Given the description of an element on the screen output the (x, y) to click on. 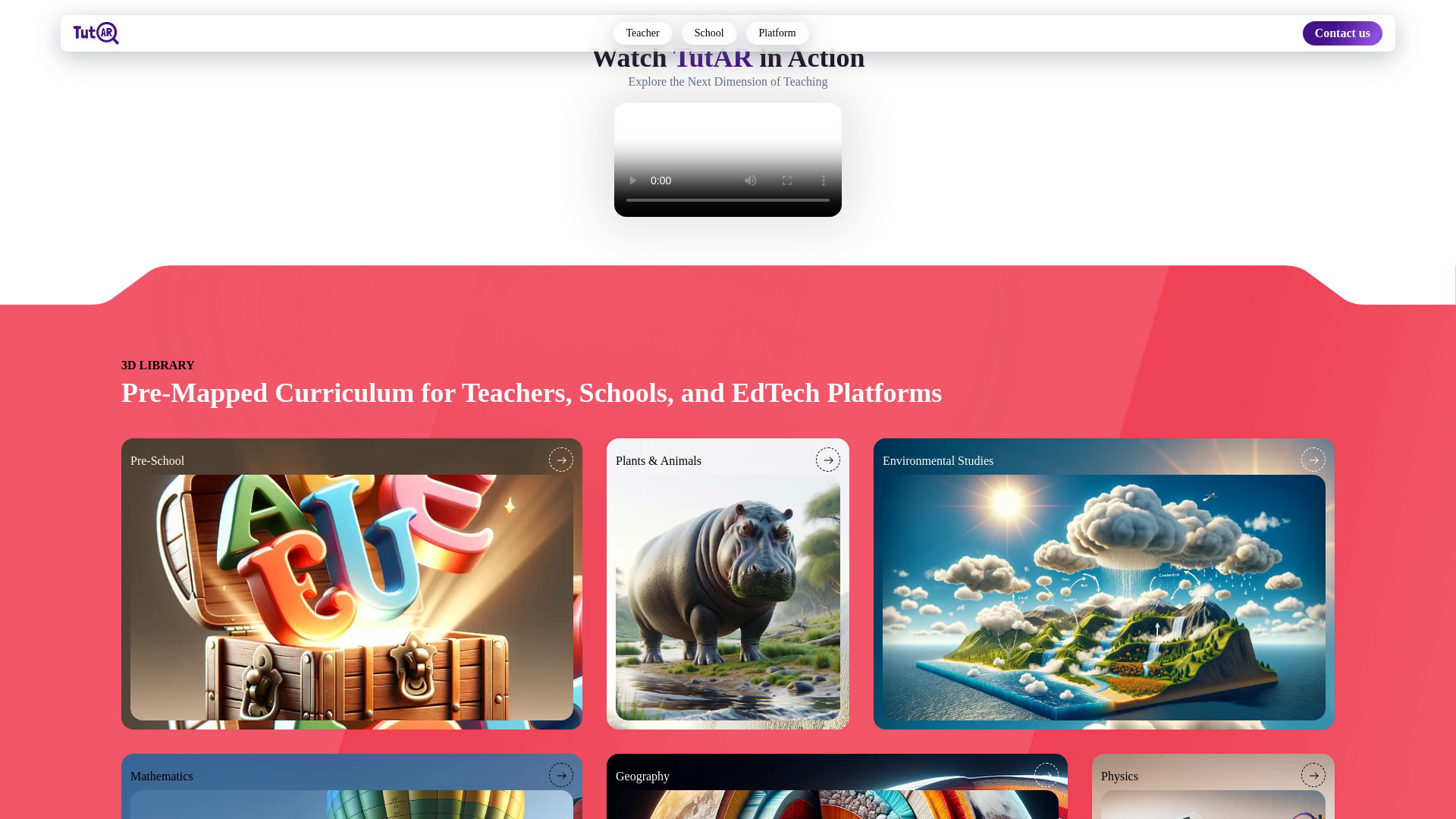
Physics (1213, 786)
Geography (837, 786)
Mathematics (351, 786)
